Given the description of an element on the screen output the (x, y) to click on. 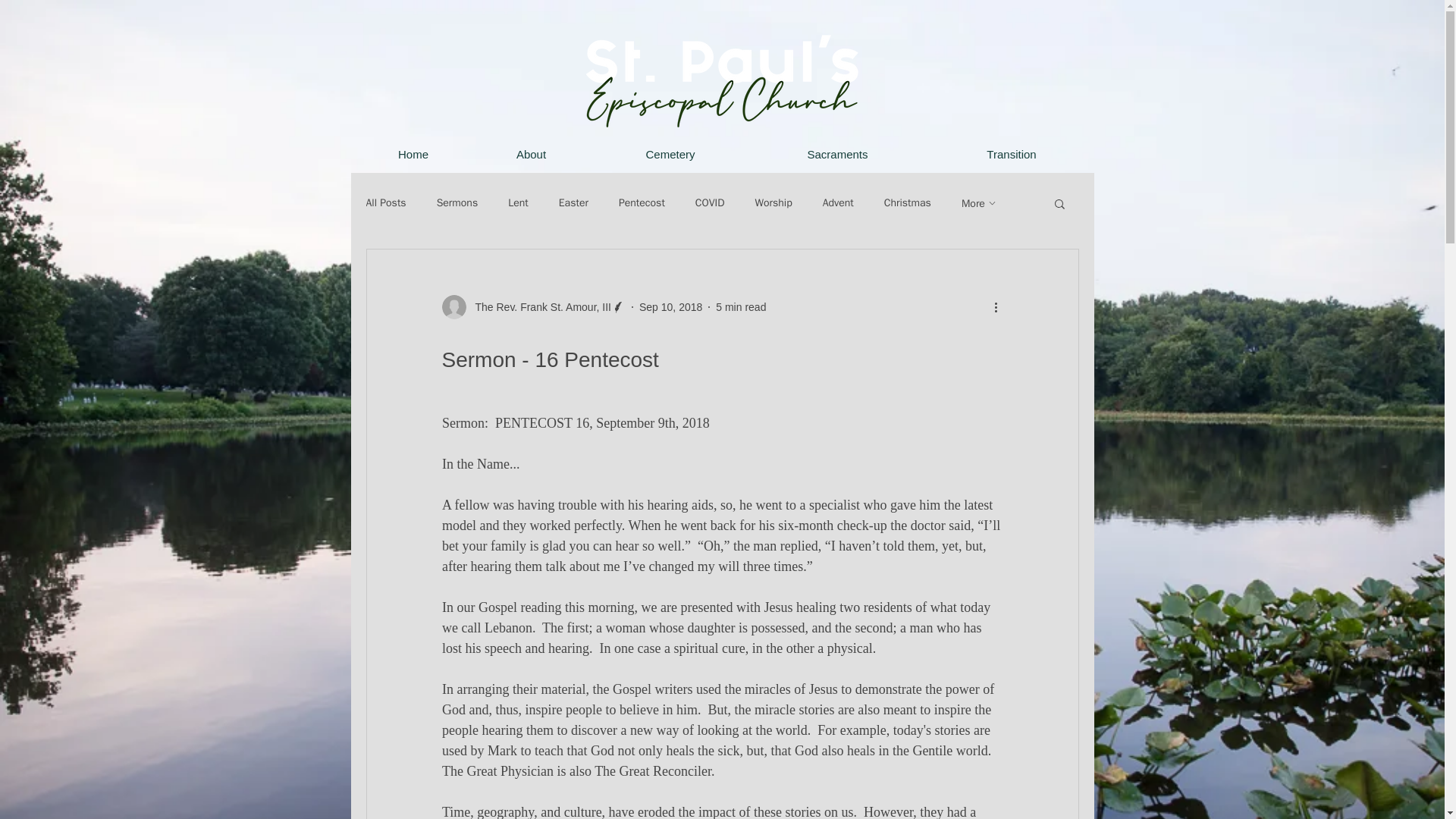
Sermons (457, 202)
5 min read (740, 306)
Advent (837, 202)
Lent (518, 202)
Pentecost (641, 202)
COVID (710, 202)
Worship (773, 202)
Transition (1011, 154)
About (531, 154)
Easter (573, 202)
